Given the description of an element on the screen output the (x, y) to click on. 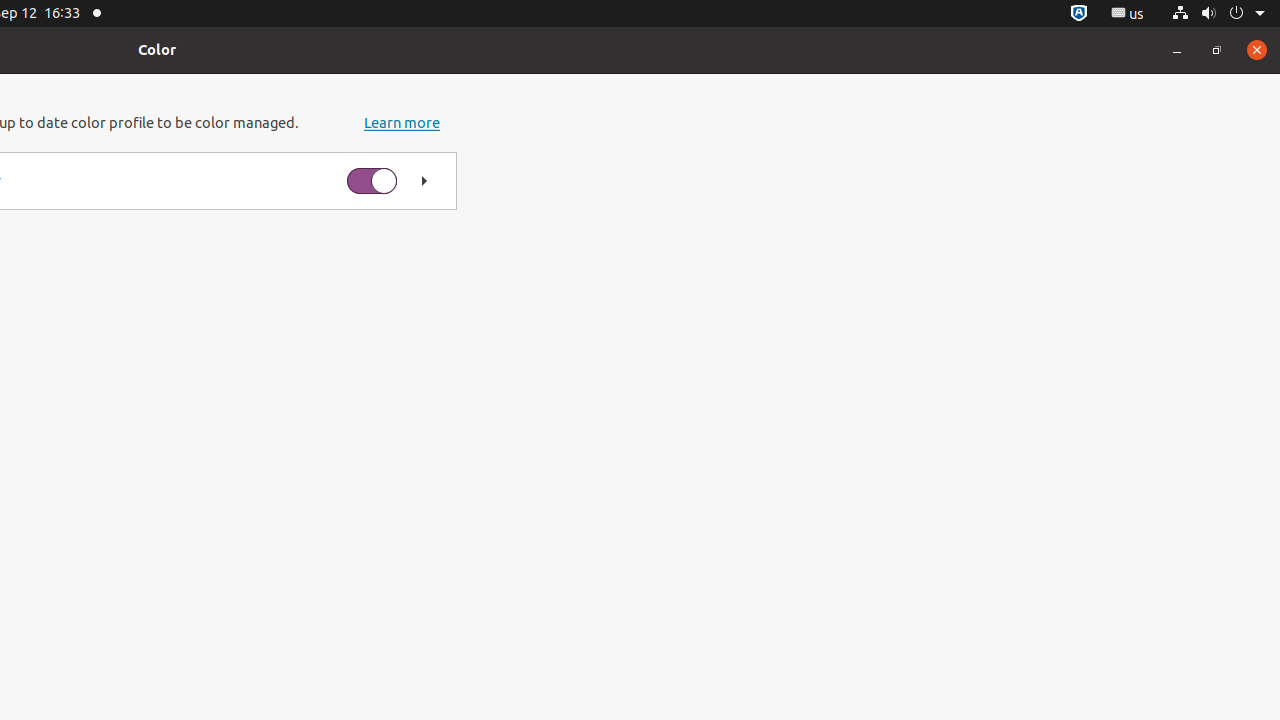
Color Element type: label (157, 49)
Restore Element type: push-button (1217, 50)
Minimize Element type: push-button (1177, 50)
